Given the description of an element on the screen output the (x, y) to click on. 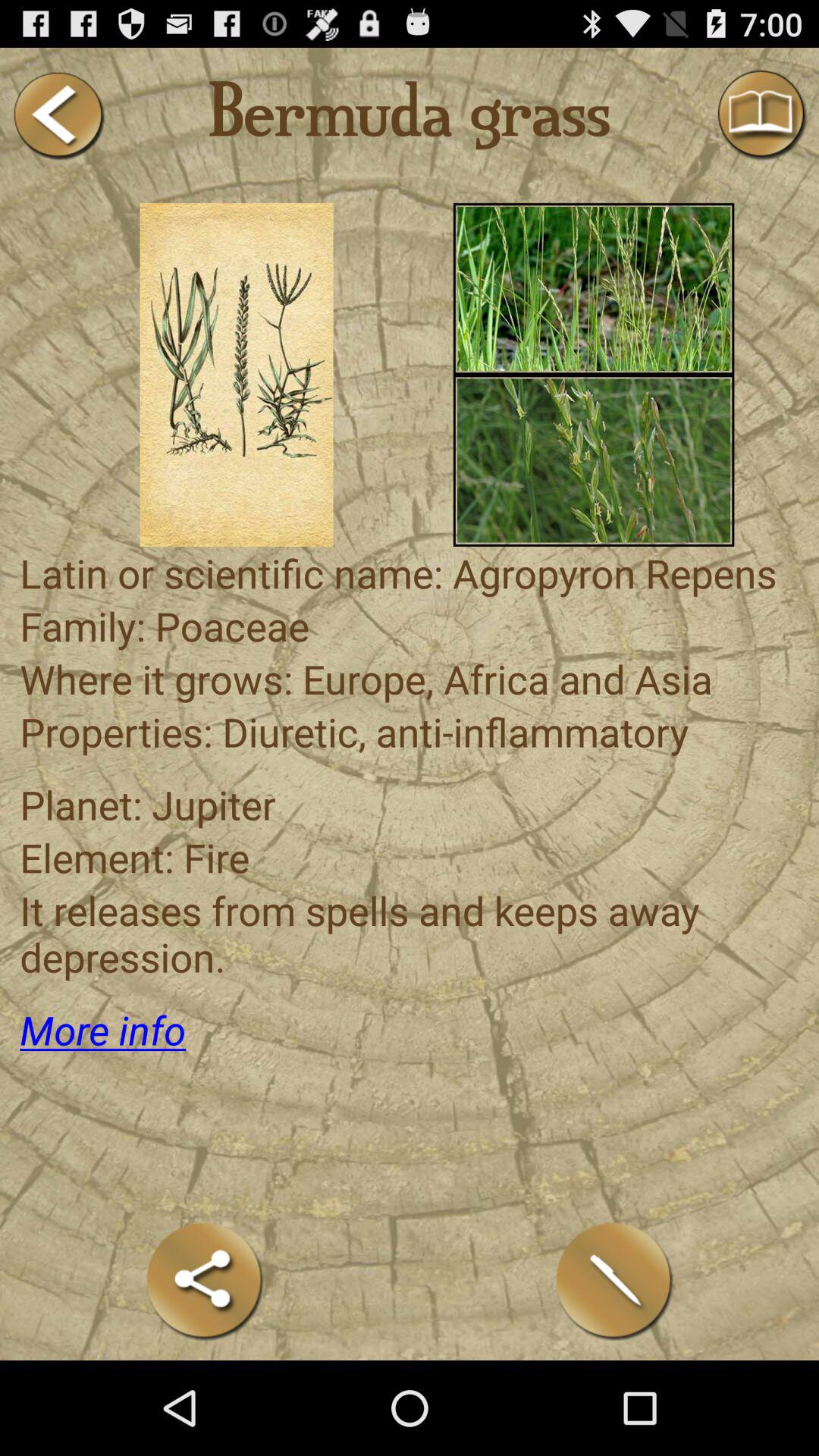
share button (204, 1280)
